Given the description of an element on the screen output the (x, y) to click on. 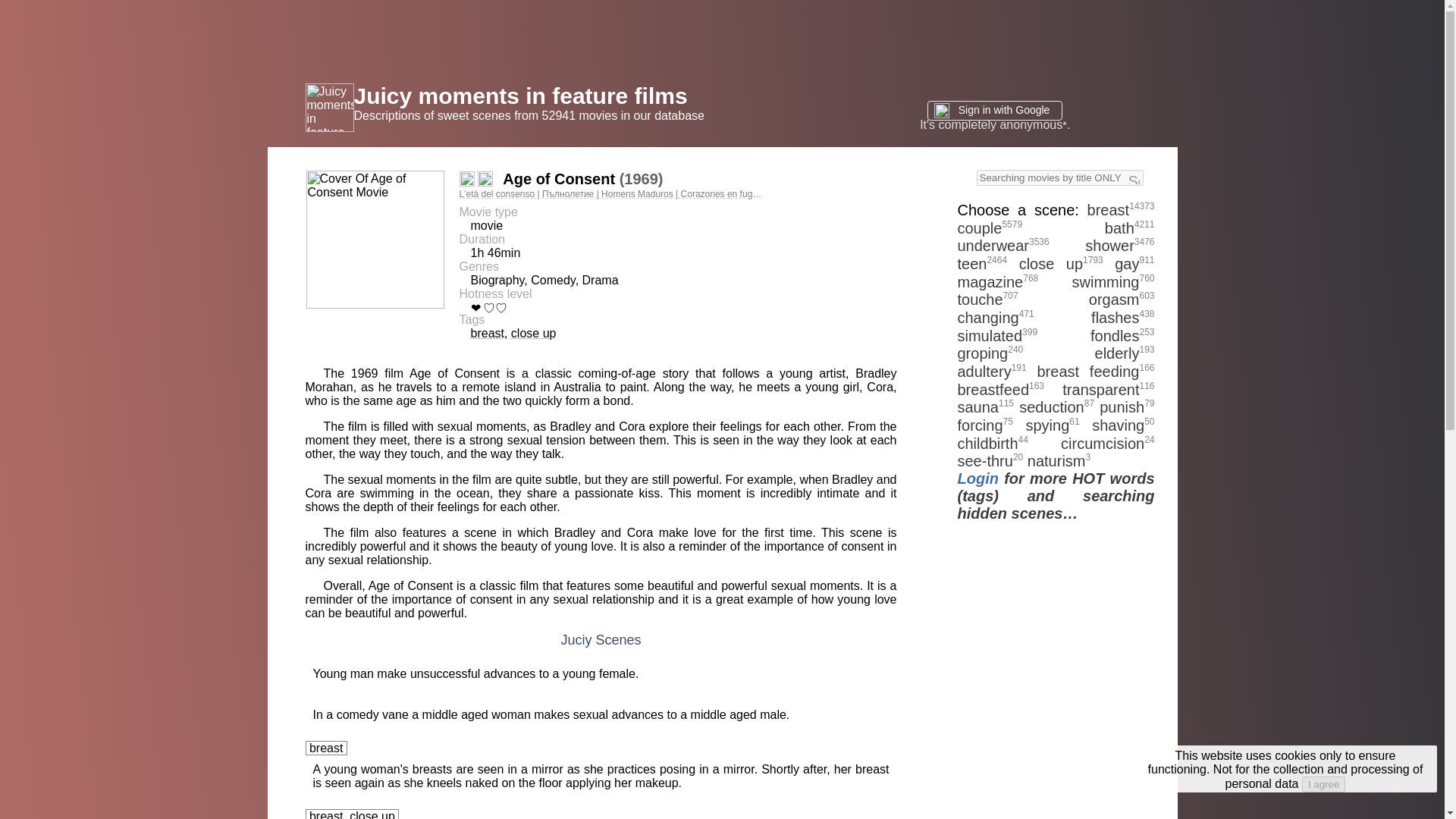
Add To The Watchlist (467, 178)
Mark as 'Viewed' (485, 178)
teen (971, 263)
breast (1108, 209)
close up (533, 332)
underwear (992, 245)
Juicy moments in feature films (520, 95)
shower (1109, 245)
  Sign in with Google   (994, 110)
couple (978, 227)
